Given the description of an element on the screen output the (x, y) to click on. 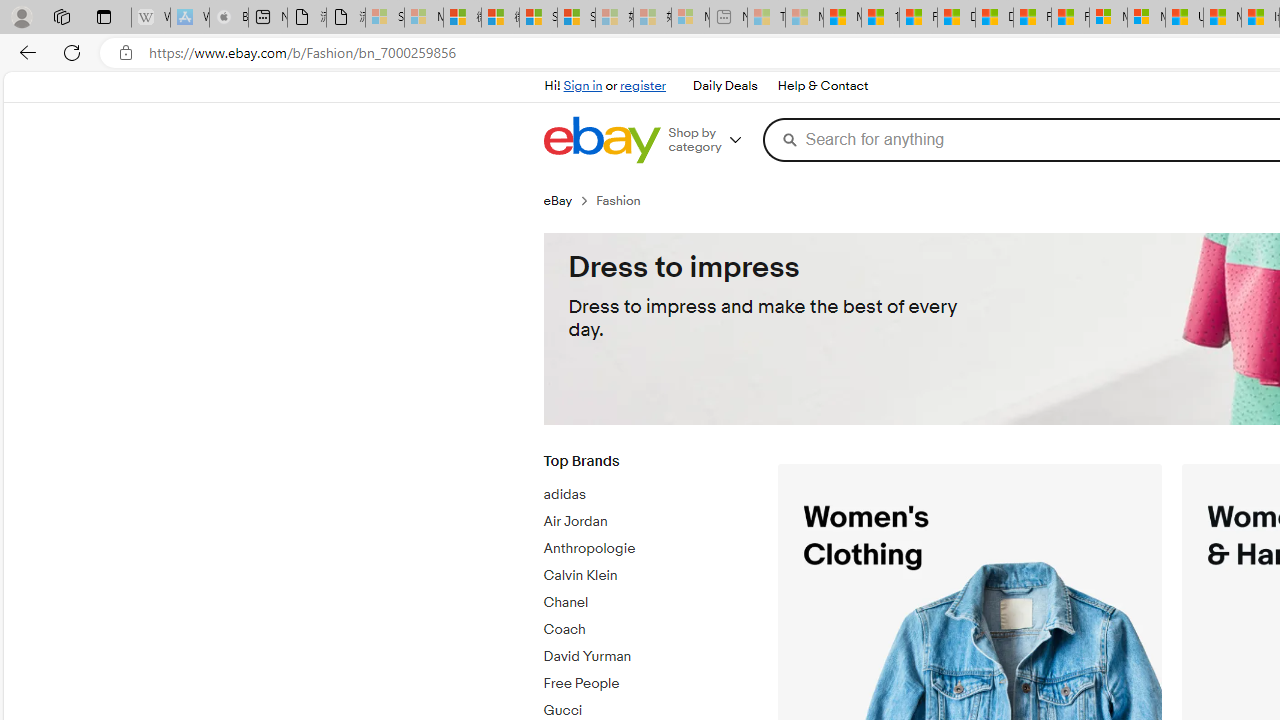
Sign in to your Microsoft account - Sleeping (385, 17)
Microsoft Services Agreement - Sleeping (423, 17)
Free People (645, 684)
eBay (569, 200)
Daily Deals (724, 86)
Calvin Klein (645, 576)
Shop by category (711, 140)
eBay Home (601, 139)
David Yurman (645, 653)
Buy iPad - Apple - Sleeping (228, 17)
